Given the description of an element on the screen output the (x, y) to click on. 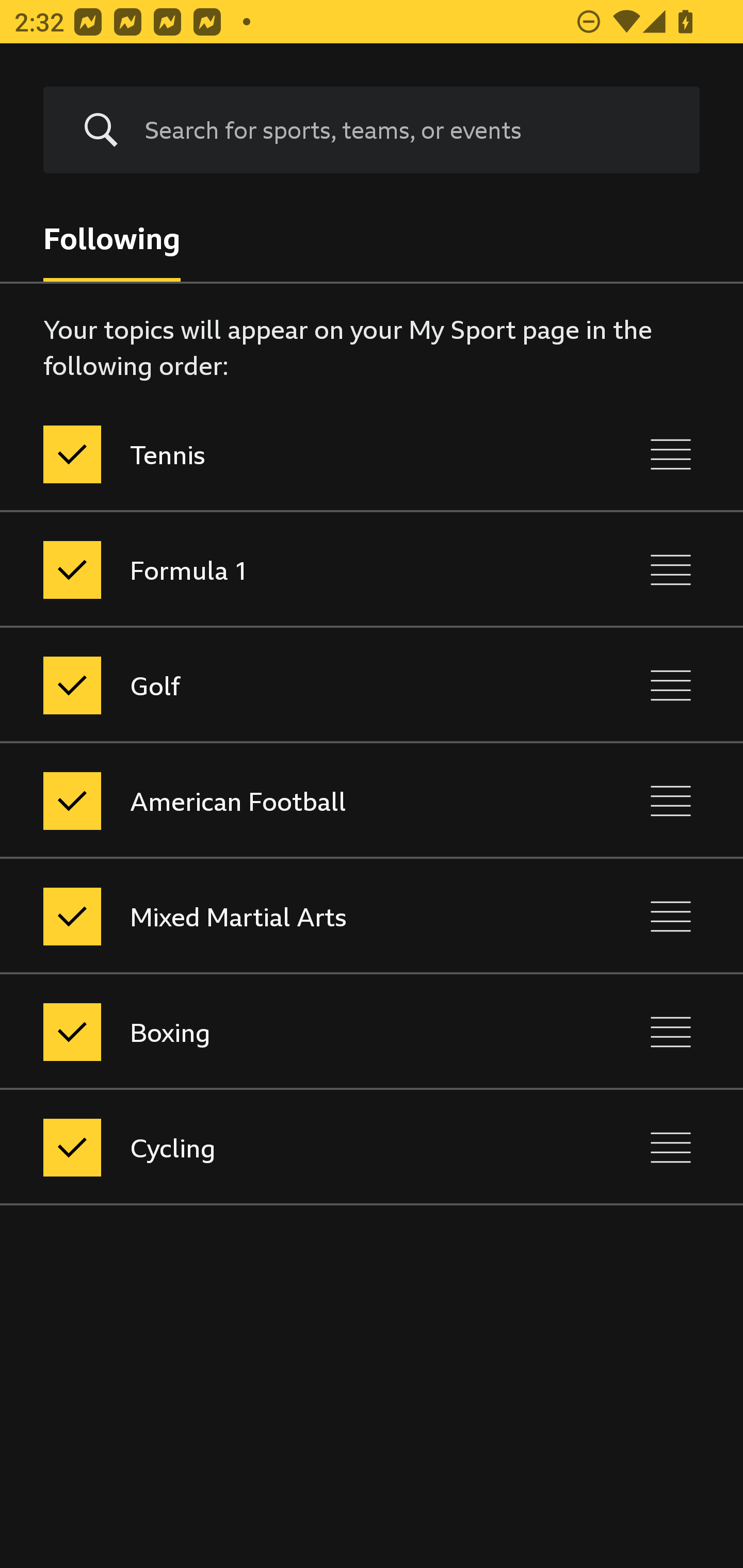
Search for sports, teams, or events (371, 130)
Search for sports, teams, or events (407, 130)
Tennis (284, 454)
Reorder Tennis (670, 454)
Formula 1 (284, 569)
Reorder Formula 1 (670, 569)
Golf (284, 685)
Reorder Golf (670, 685)
American Football (284, 801)
Reorder American Football (670, 801)
Mixed Martial Arts (284, 916)
Reorder Mixed Martial Arts (670, 916)
Boxing (284, 1031)
Reorder Boxing (670, 1031)
Cycling (284, 1147)
Reorder Cycling (670, 1147)
